Given the description of an element on the screen output the (x, y) to click on. 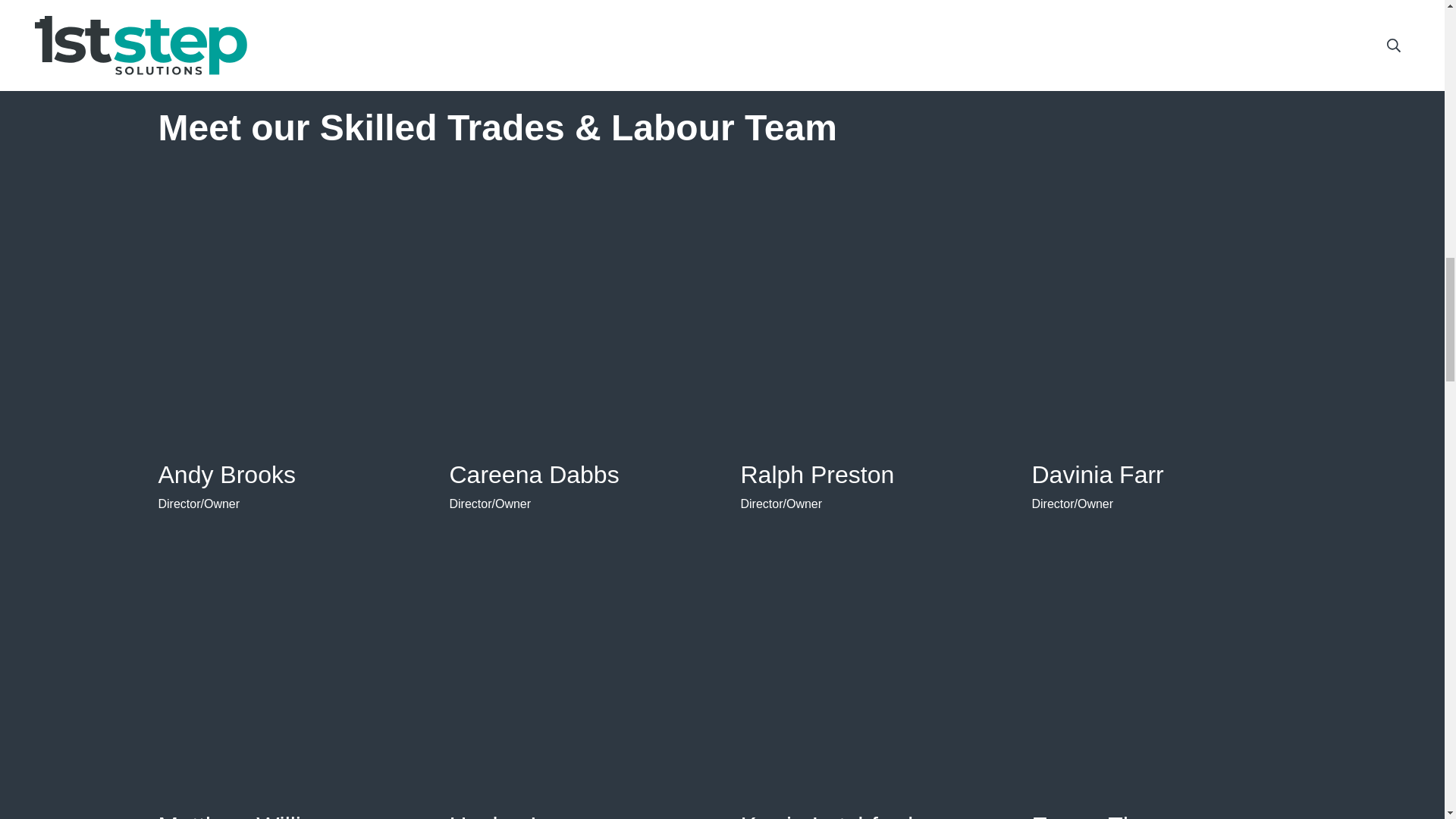
Andy Brooks (226, 474)
Matthew Williams (251, 815)
Kerrie Letchford (825, 815)
Davinia Farr (1096, 474)
Careena Dabbs (533, 474)
Ralph Preston (816, 474)
Hayley Laurance (539, 815)
